Given the description of an element on the screen output the (x, y) to click on. 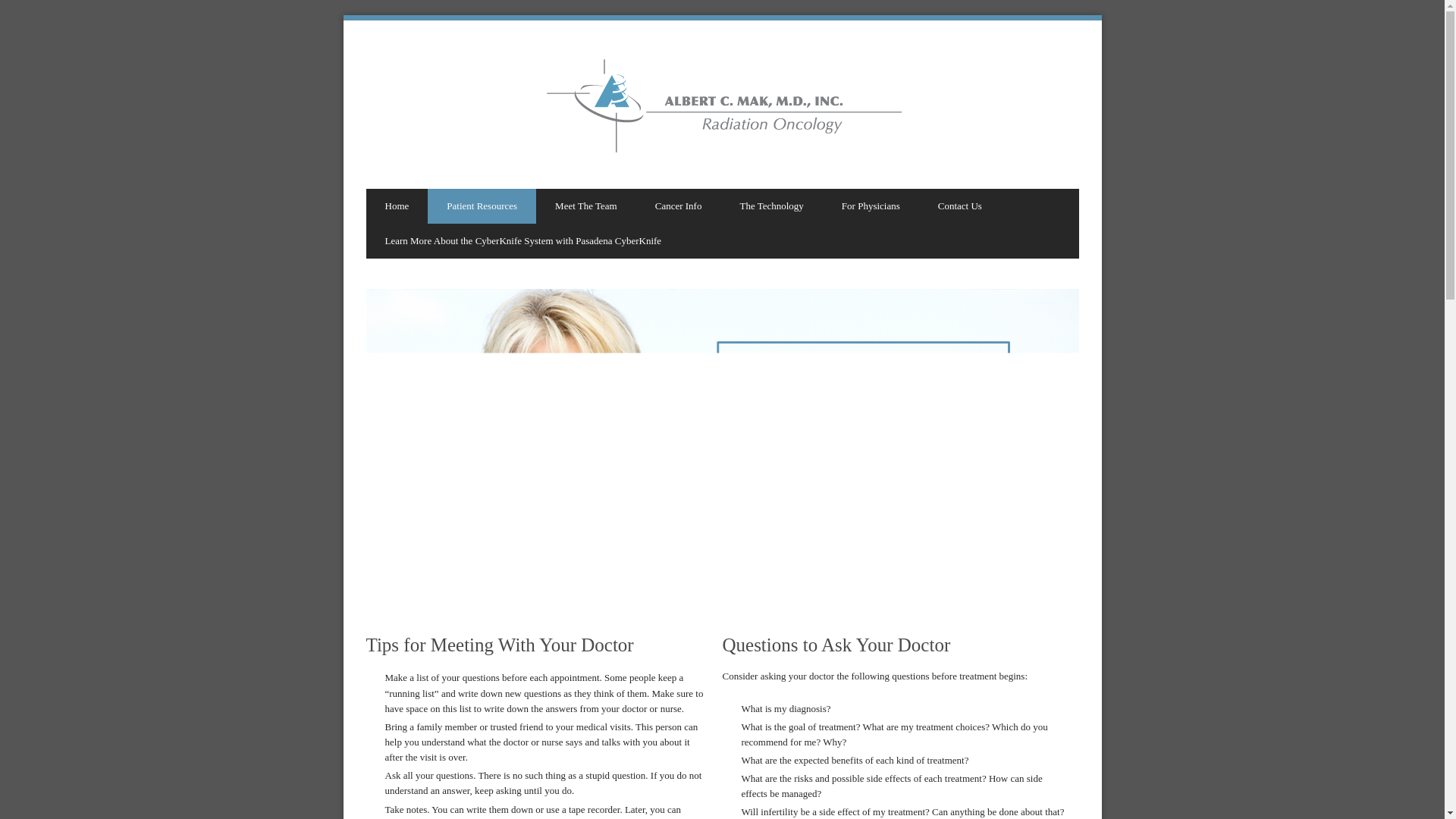
Contact Us (959, 206)
The Technology (771, 206)
Patient Resources (481, 206)
Cancer Info (678, 206)
Home (396, 206)
For Physicians (870, 206)
Meet The Team (585, 206)
